Given the description of an element on the screen output the (x, y) to click on. 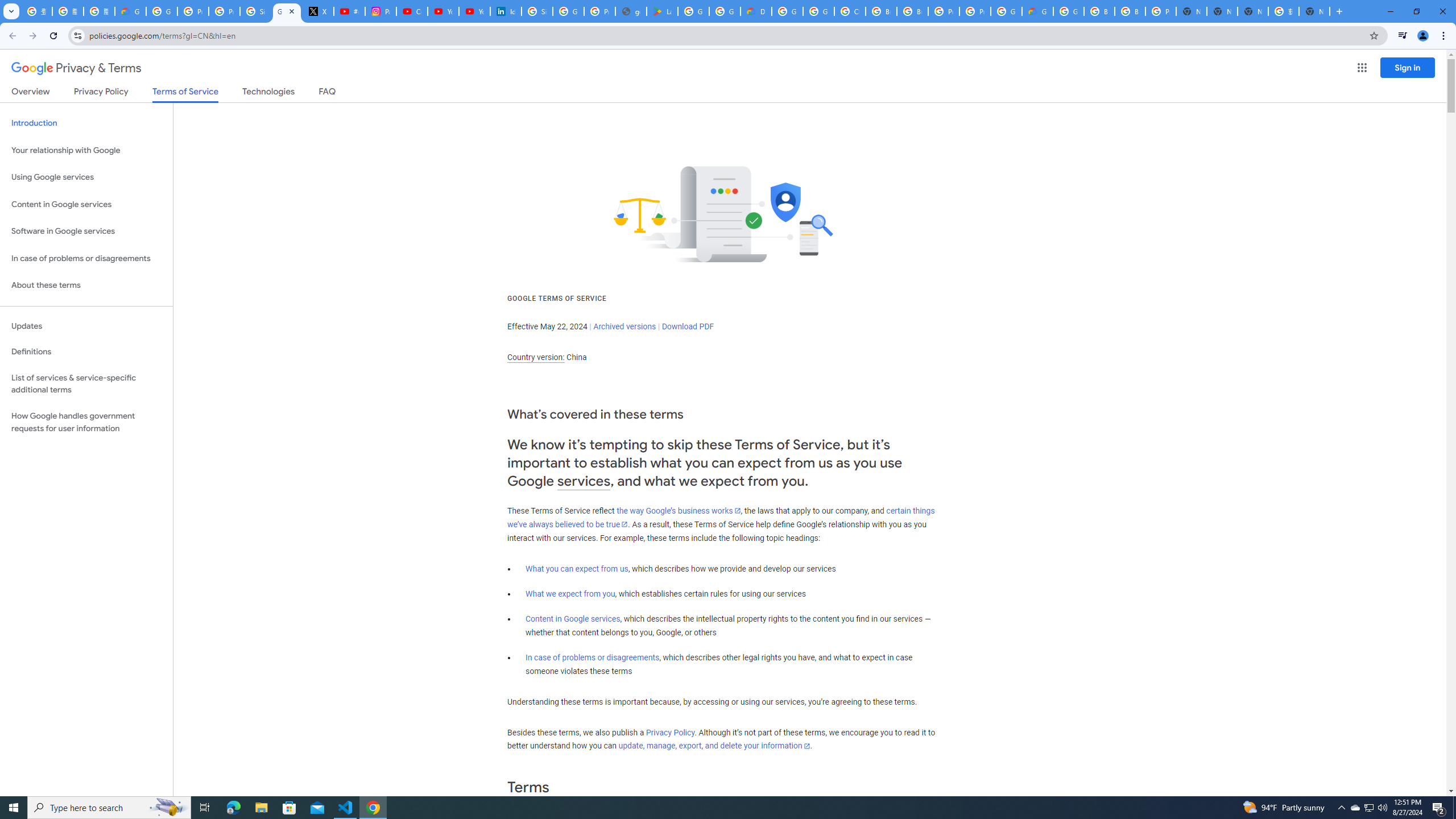
services (583, 480)
How Google handles government requests for user information (86, 422)
Privacy Help Center - Policies Help (223, 11)
Sign in - Google Accounts (255, 11)
Browse Chrome as a guest - Computer - Google Chrome Help (1098, 11)
Browse Chrome as a guest - Computer - Google Chrome Help (912, 11)
